Given the description of an element on the screen output the (x, y) to click on. 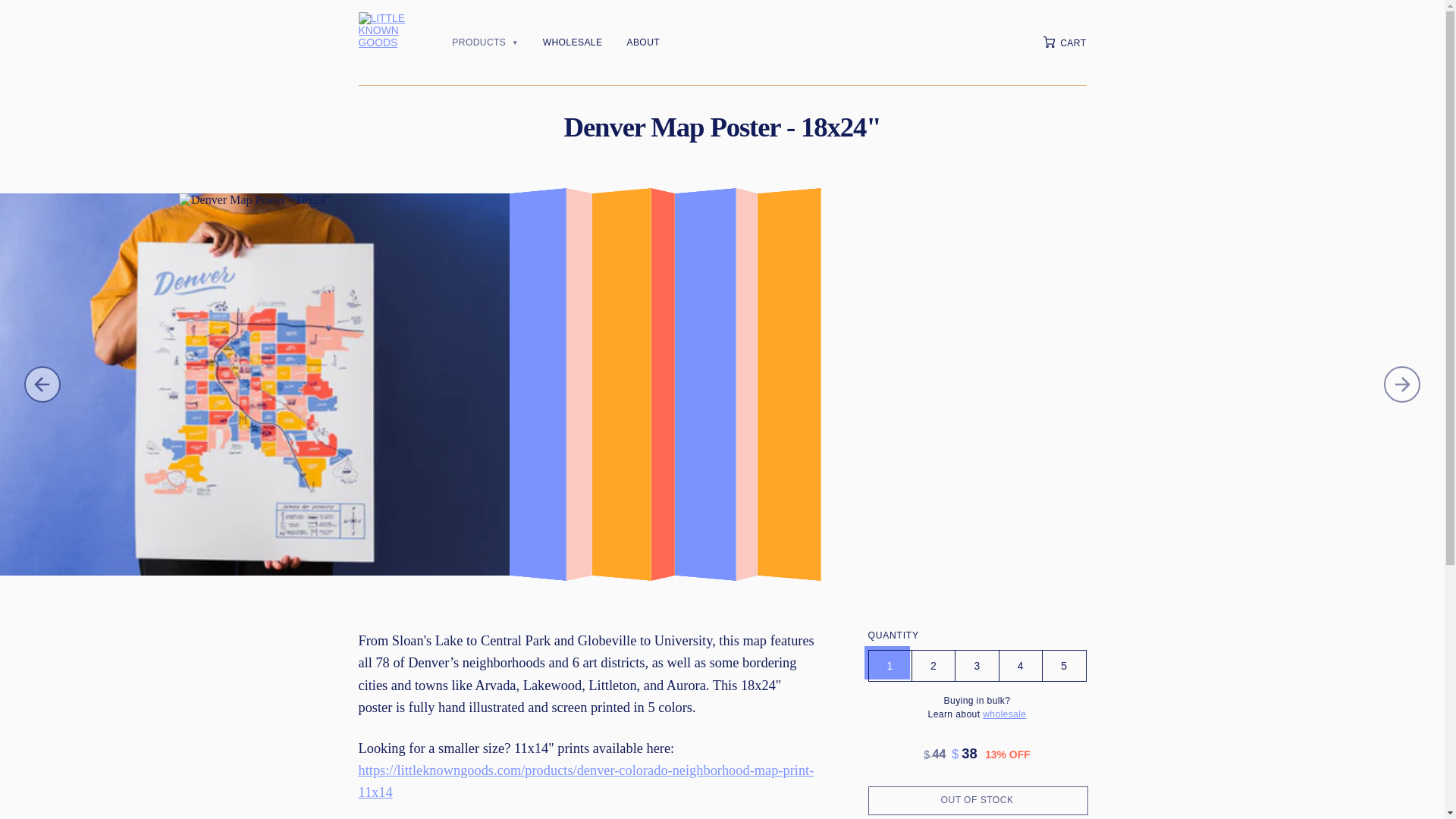
ABOUT (642, 41)
WHOLESALE (572, 41)
OUT OF STOCK (976, 800)
wholesale (1004, 714)
CART (1064, 41)
